Given the description of an element on the screen output the (x, y) to click on. 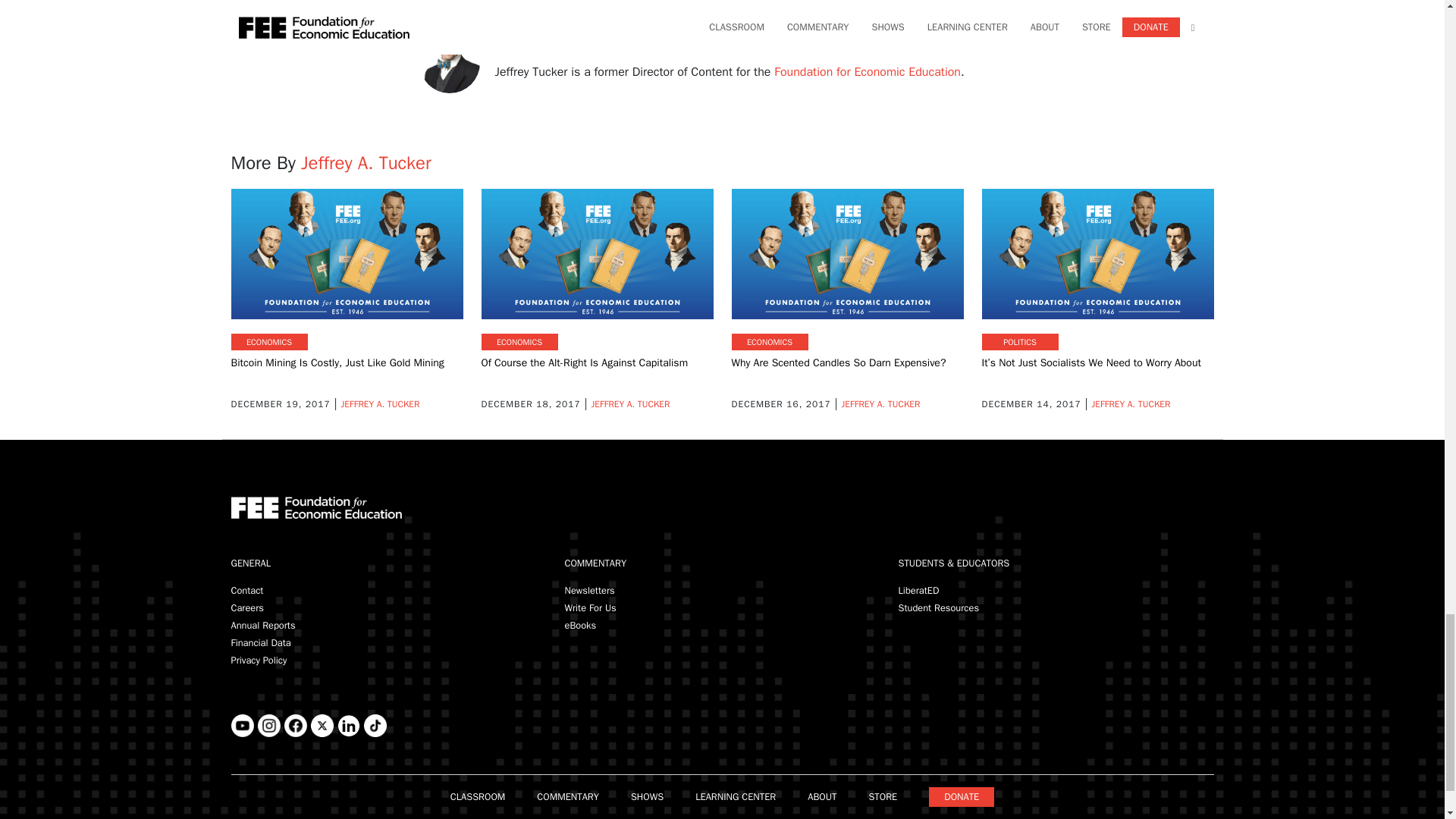
Foundation for Economic Education (867, 71)
Jeffrey A. Tucker (365, 162)
Bitcoin Mining Is Costly, Just Like Gold Mining (337, 362)
JEFFREY A. TUCKER (379, 404)
Jeffrey A. Tucker (537, 41)
ECONOMICS (269, 341)
